Given the description of an element on the screen output the (x, y) to click on. 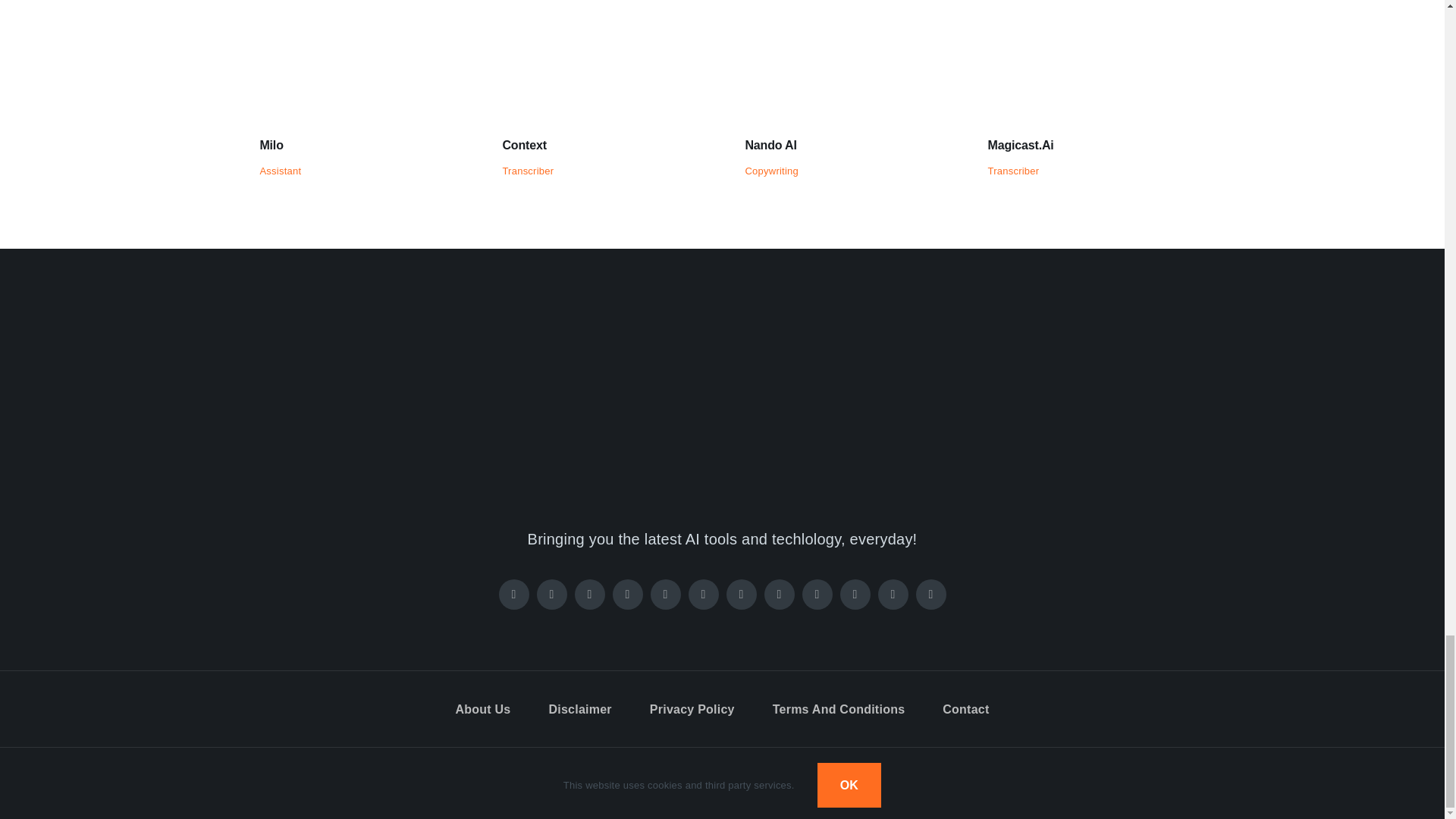
Facebook (514, 594)
Pinterest (627, 594)
Twitch (665, 594)
Tiktok (703, 594)
Twitter (552, 594)
Instagram (590, 594)
YouTube (741, 594)
